Given the description of an element on the screen output the (x, y) to click on. 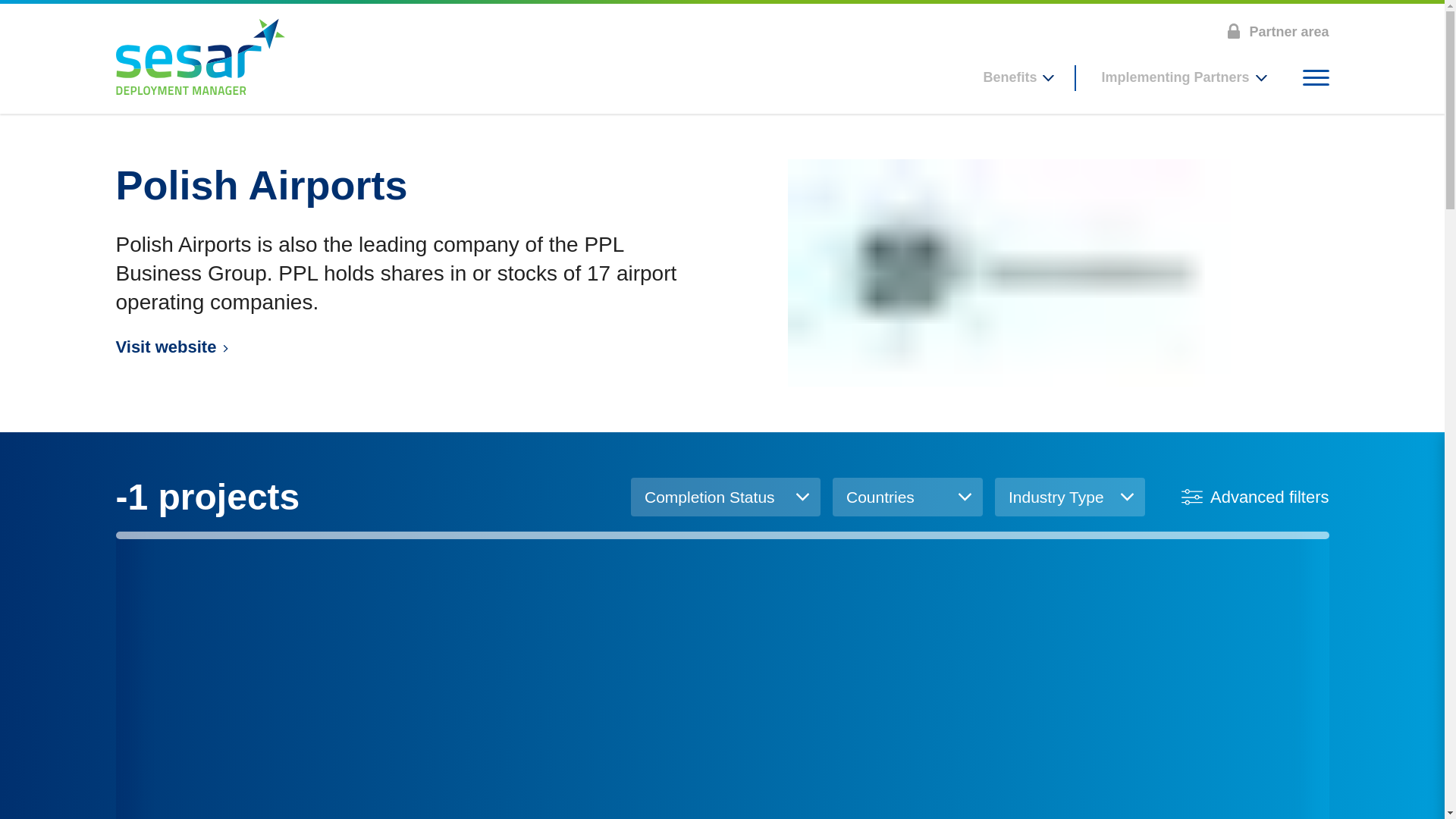
Partner area (1277, 26)
Benefits (1016, 77)
Visit website (403, 346)
Menu (1316, 77)
Implementing Partners (1181, 77)
SESAR DM (199, 56)
Implementing Partners (1181, 77)
Benefits (1016, 77)
